Given the description of an element on the screen output the (x, y) to click on. 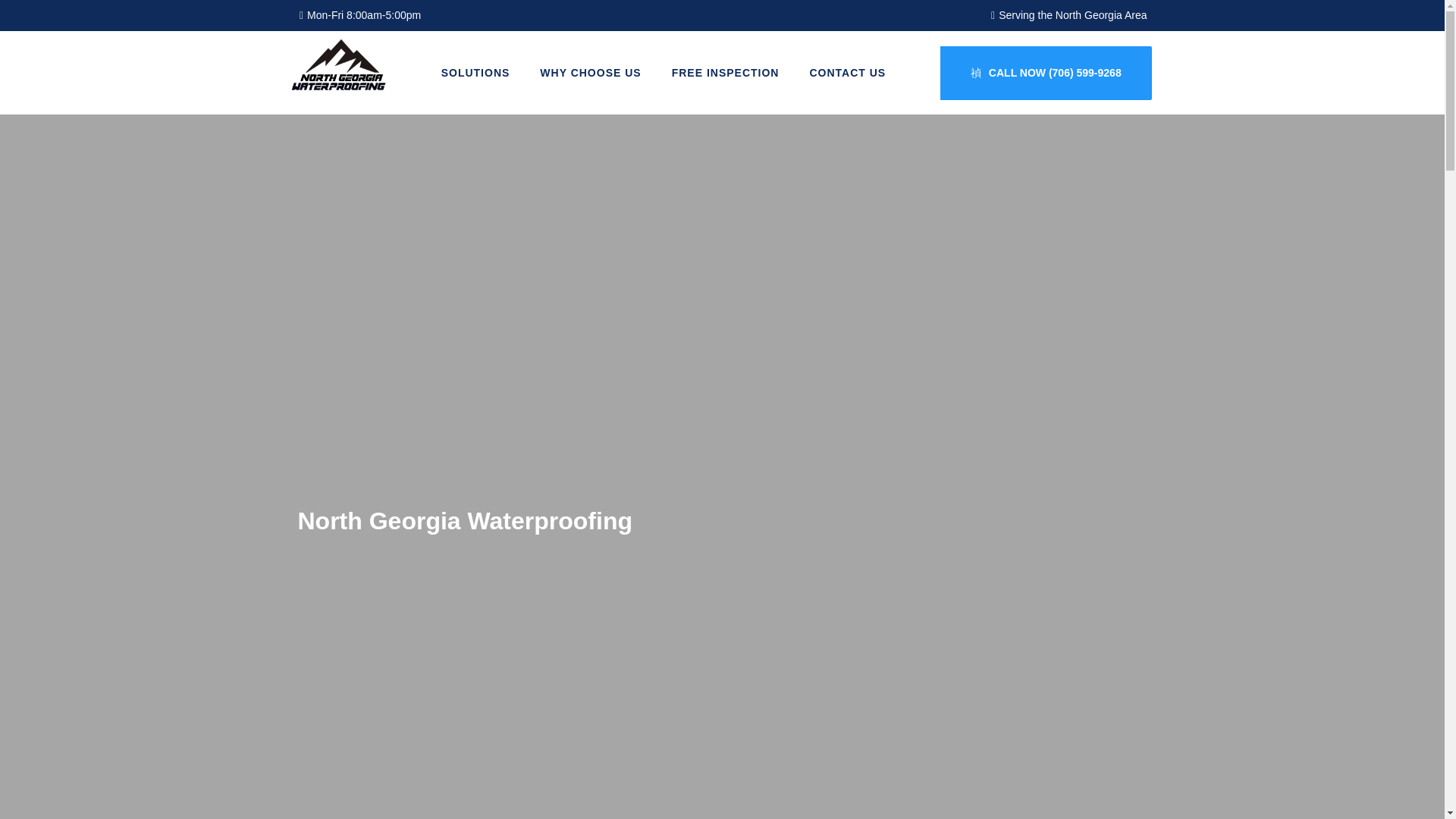
CONTACT US (847, 72)
WHY CHOOSE US (590, 72)
SOLUTIONS (475, 72)
FREE INSPECTION (725, 72)
